Given the description of an element on the screen output the (x, y) to click on. 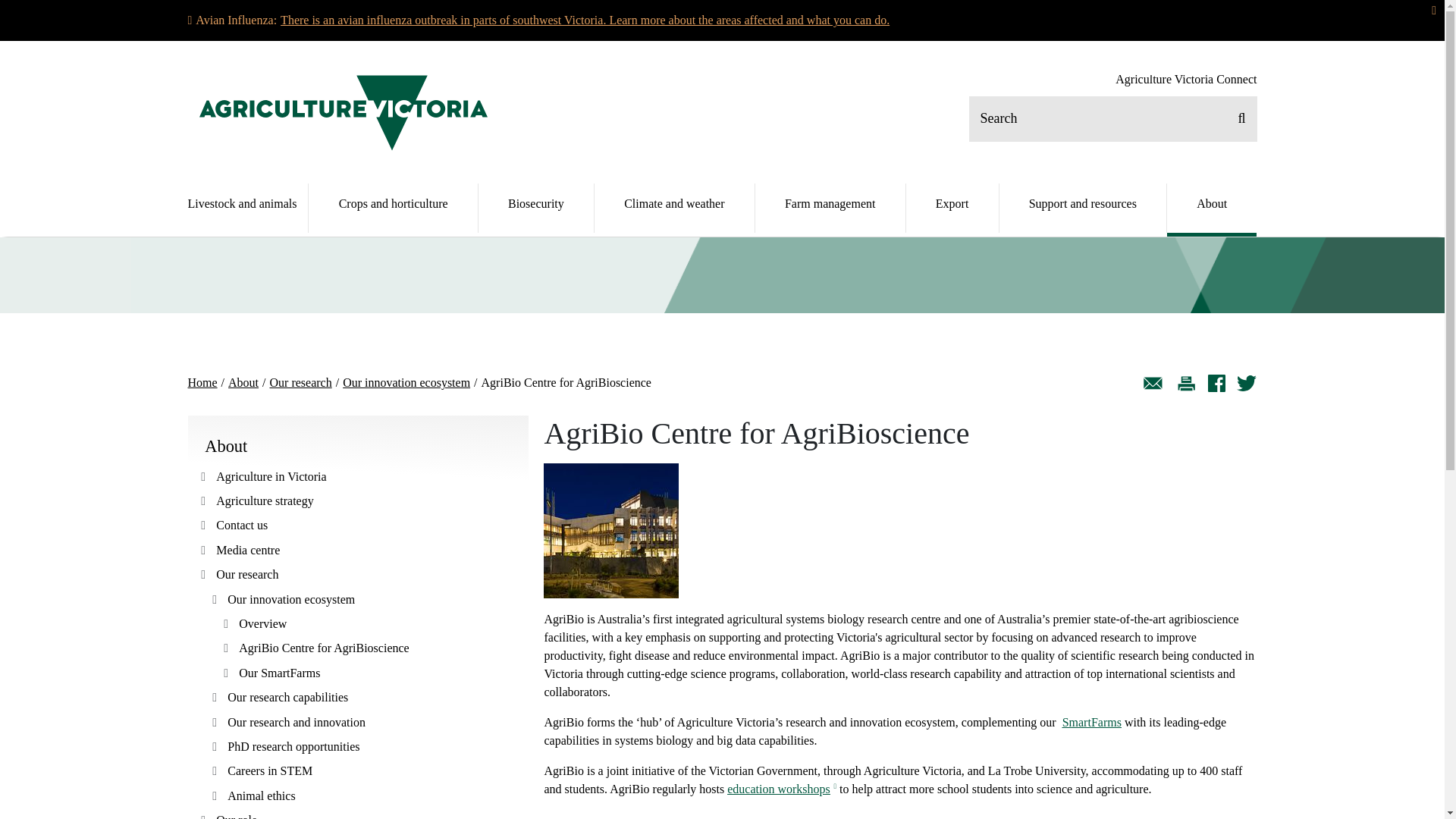
Export (951, 207)
Livestock and animals (247, 207)
About (1212, 207)
Crops and horticulture (393, 207)
Climate and weather (673, 207)
Biosecurity (535, 207)
Support and resources (1082, 207)
Farm management (829, 207)
Agriculture Victoria Connect (1185, 80)
